Given the description of an element on the screen output the (x, y) to click on. 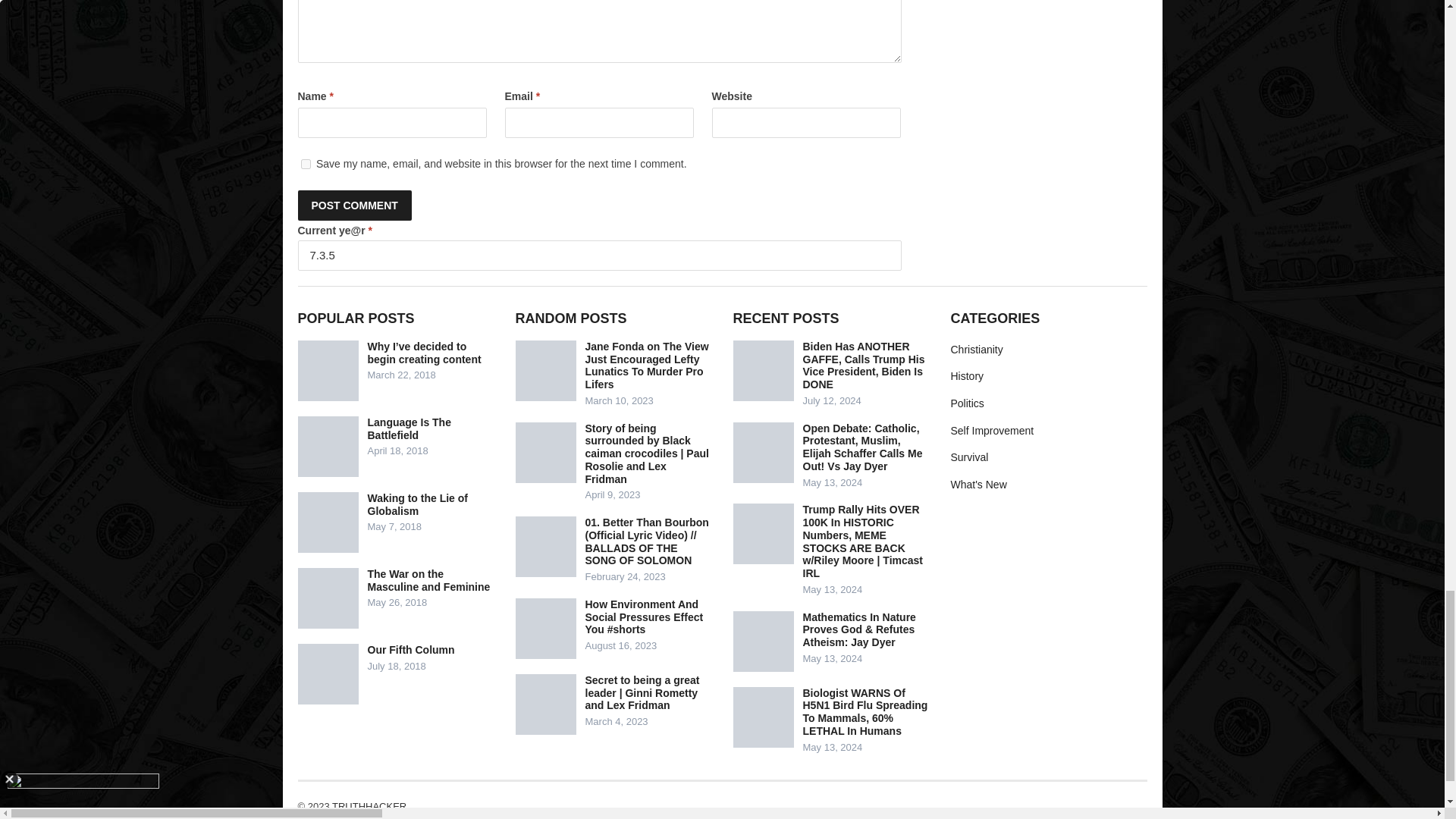
7.3.5 (599, 255)
yes (304, 163)
Post Comment (353, 205)
